Given the description of an element on the screen output the (x, y) to click on. 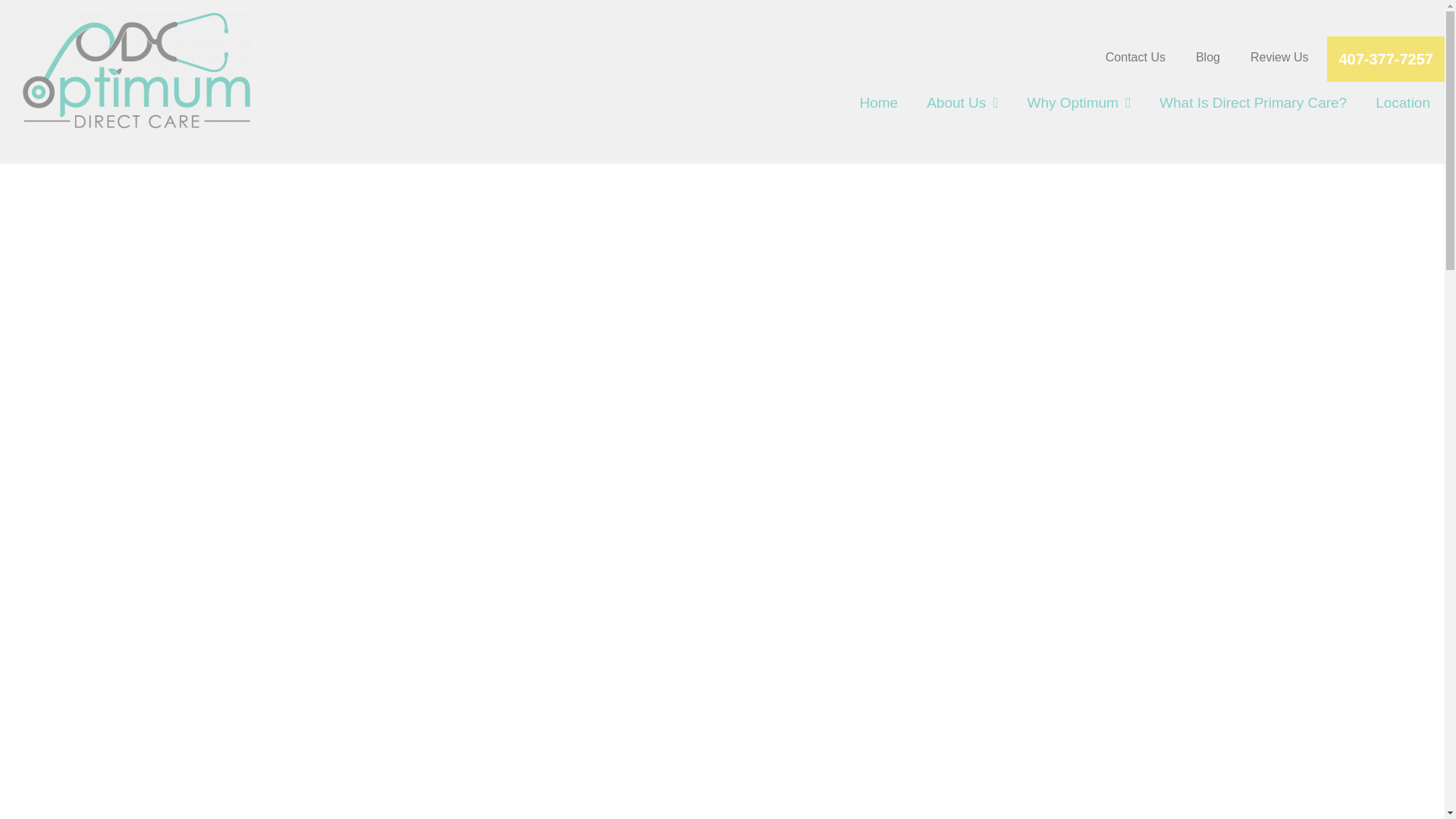
What Is Direct Primary Care? (1252, 104)
Why Optimum (1079, 104)
Contact Us (1135, 57)
Review Us (1279, 57)
Home (878, 104)
About Us (961, 104)
Blog (1208, 57)
